Given the description of an element on the screen output the (x, y) to click on. 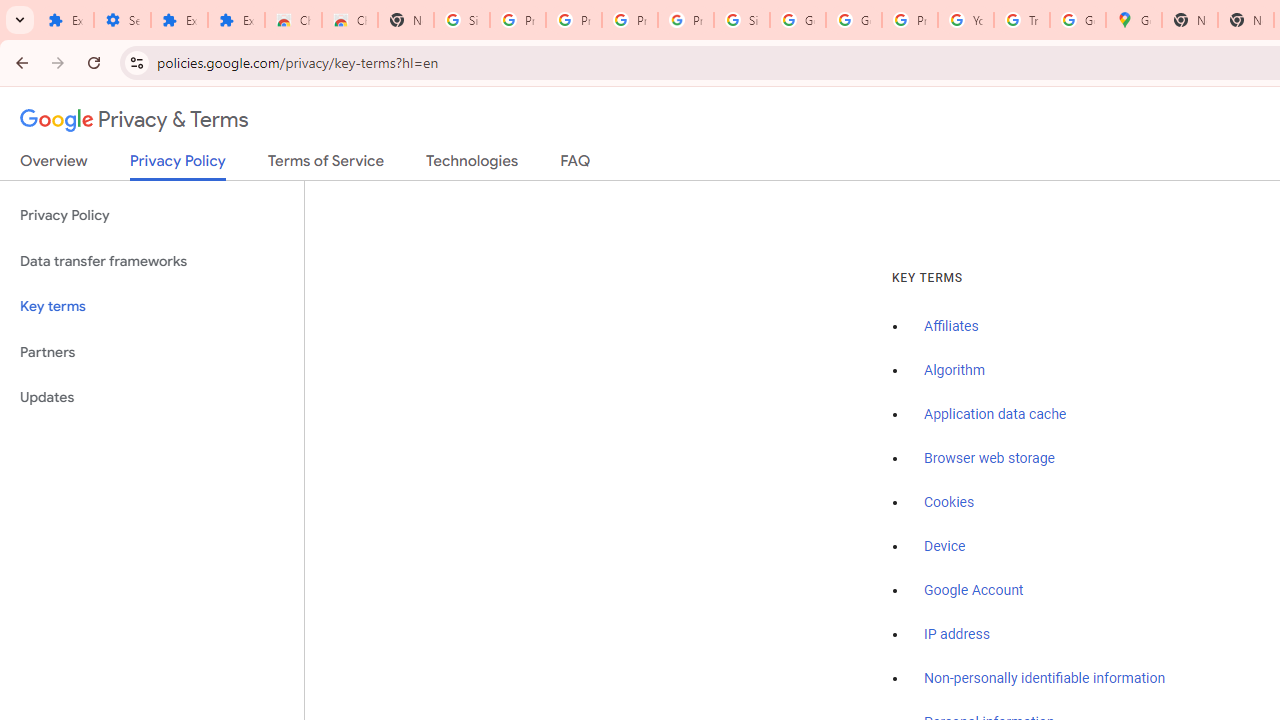
Affiliates (951, 327)
Extensions (179, 20)
Extensions (65, 20)
New Tab (1190, 20)
Sign in - Google Accounts (742, 20)
